Given the description of an element on the screen output the (x, y) to click on. 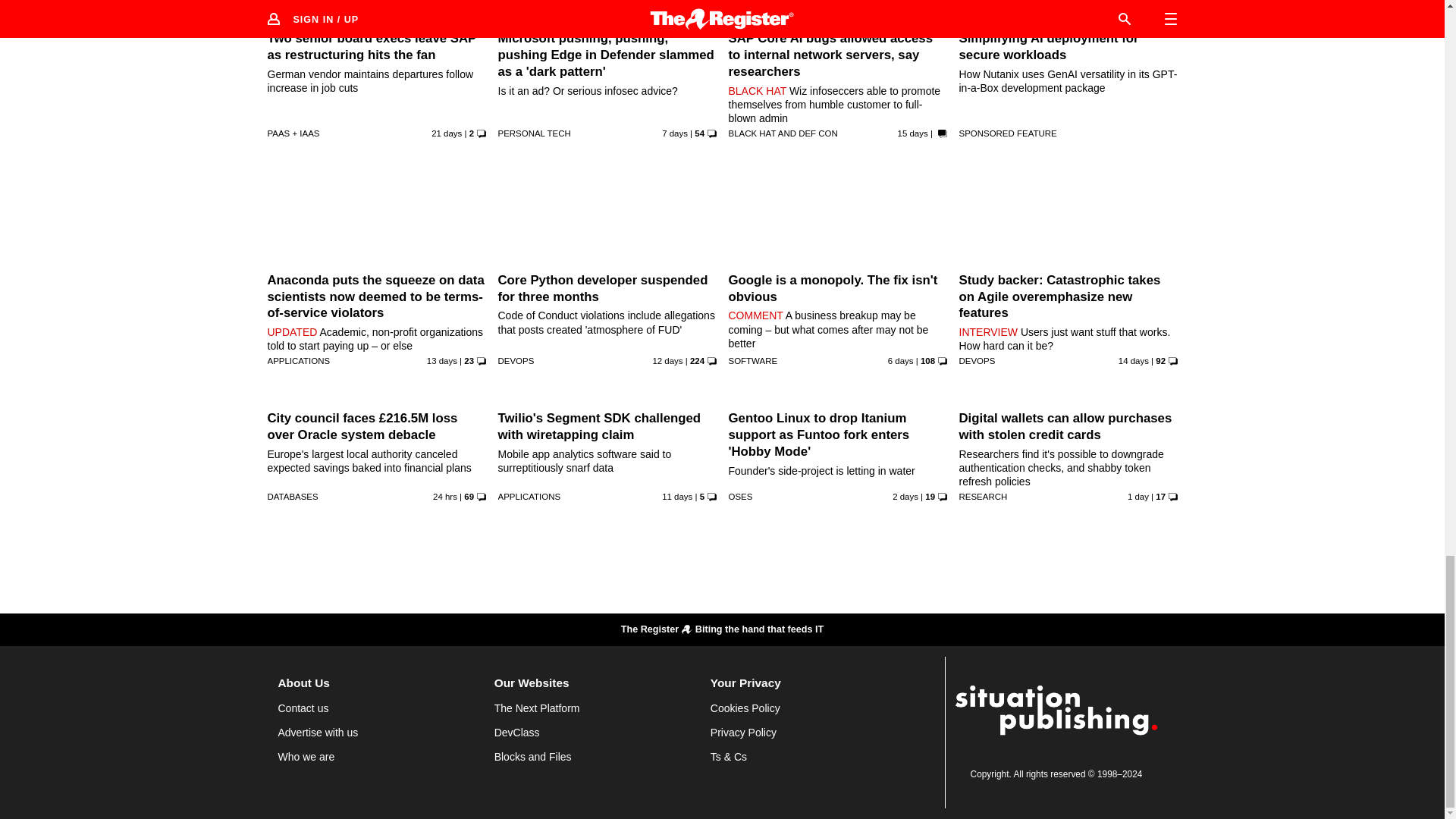
15 Aug 2024 11:28 (901, 360)
9 Aug 2024 11:44 (667, 360)
6 Aug 2024 17:32 (913, 133)
31 Jul 2024 15:45 (445, 133)
14 Aug 2024 7:30 (674, 133)
8 Aug 2024 12:26 (441, 360)
7 Aug 2024 9:35 (1133, 360)
